Given the description of an element on the screen output the (x, y) to click on. 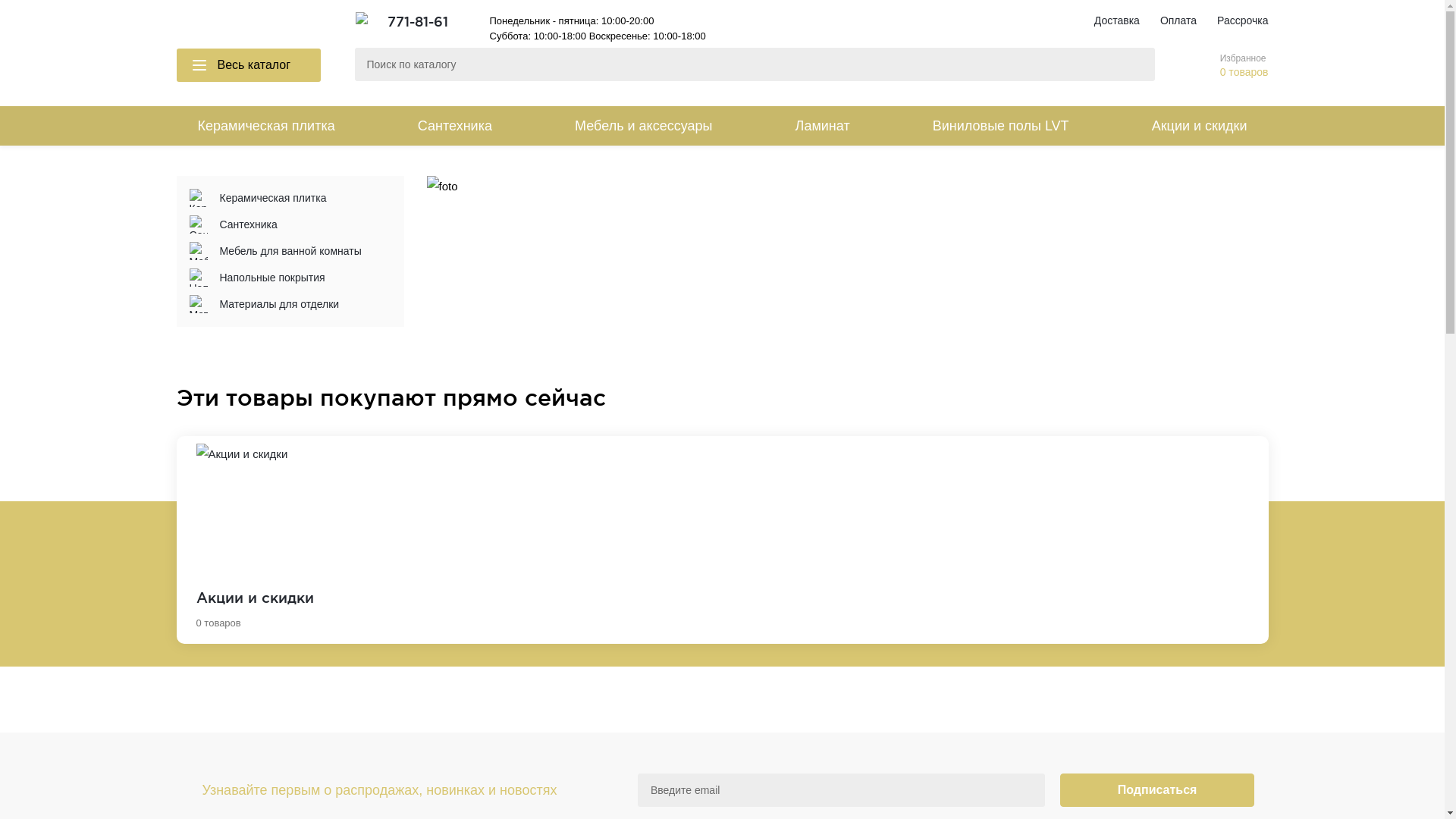
771-81-61 Element type: text (416, 20)
